Given the description of an element on the screen output the (x, y) to click on. 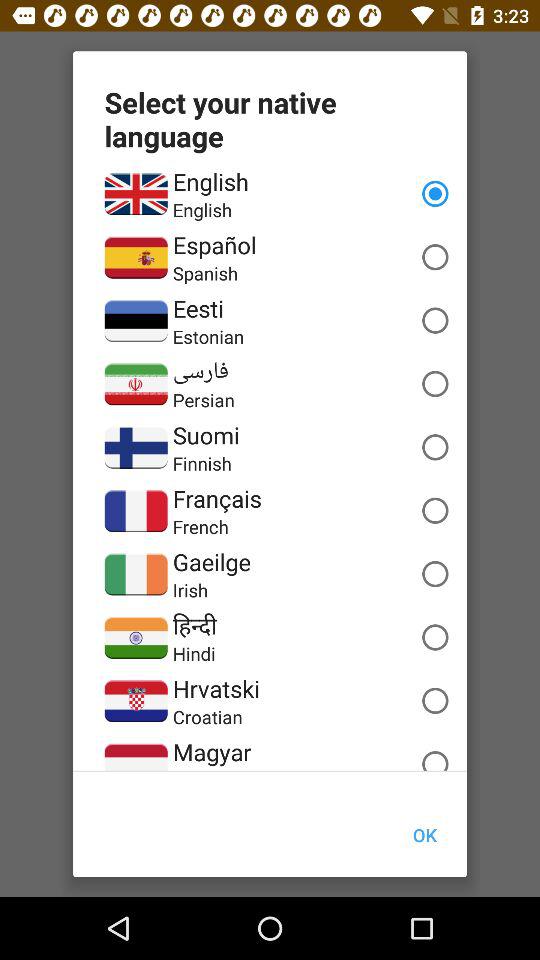
choose the icon above the croatian item (215, 688)
